Given the description of an element on the screen output the (x, y) to click on. 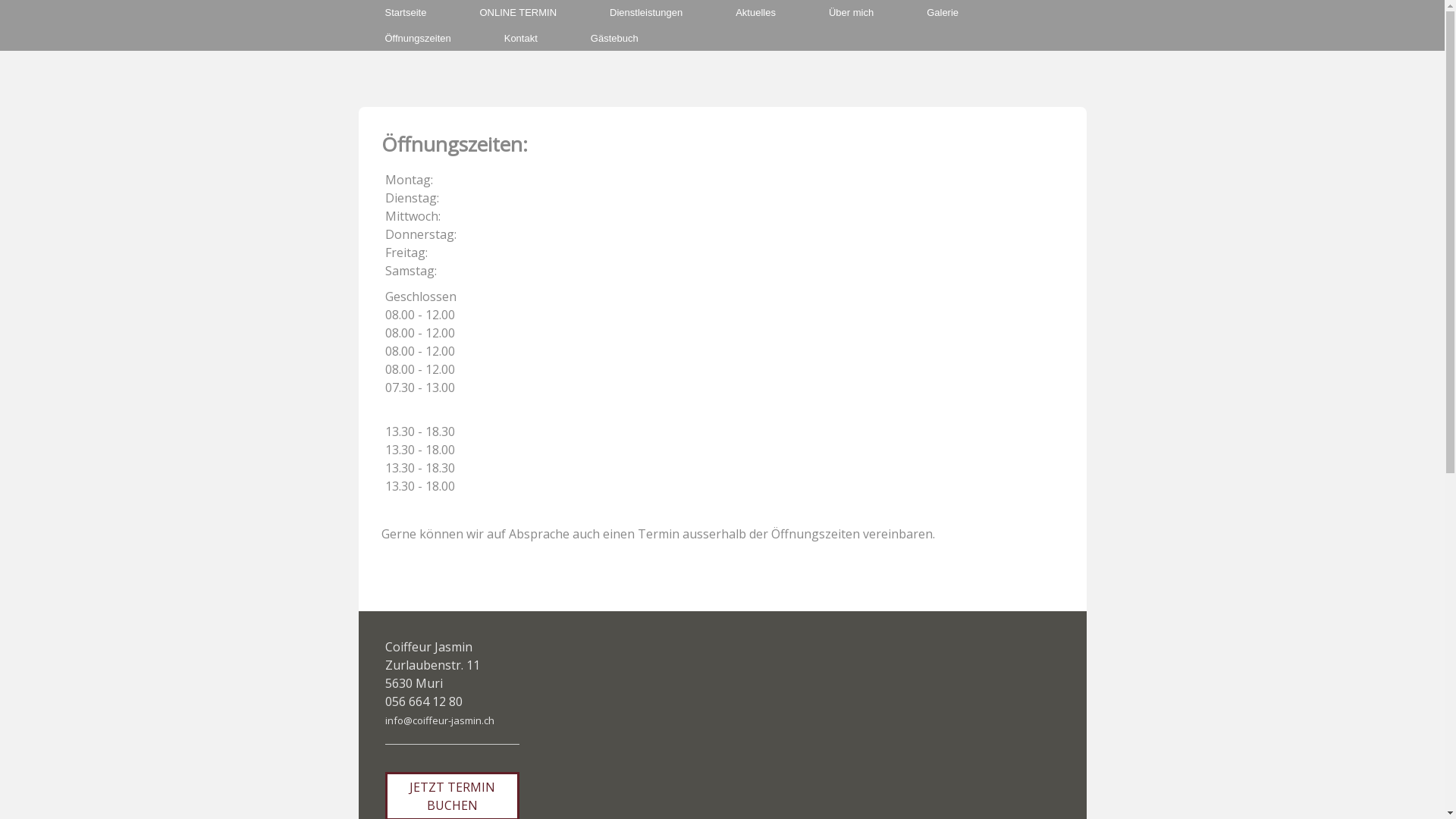
Galerie Element type: text (942, 12)
Startseite Element type: text (404, 12)
Dienstleistungen Element type: text (646, 12)
ONLINE TERMIN Element type: text (517, 12)
Kontakt Element type: text (520, 38)
Aktuelles Element type: text (755, 12)
